Given the description of an element on the screen output the (x, y) to click on. 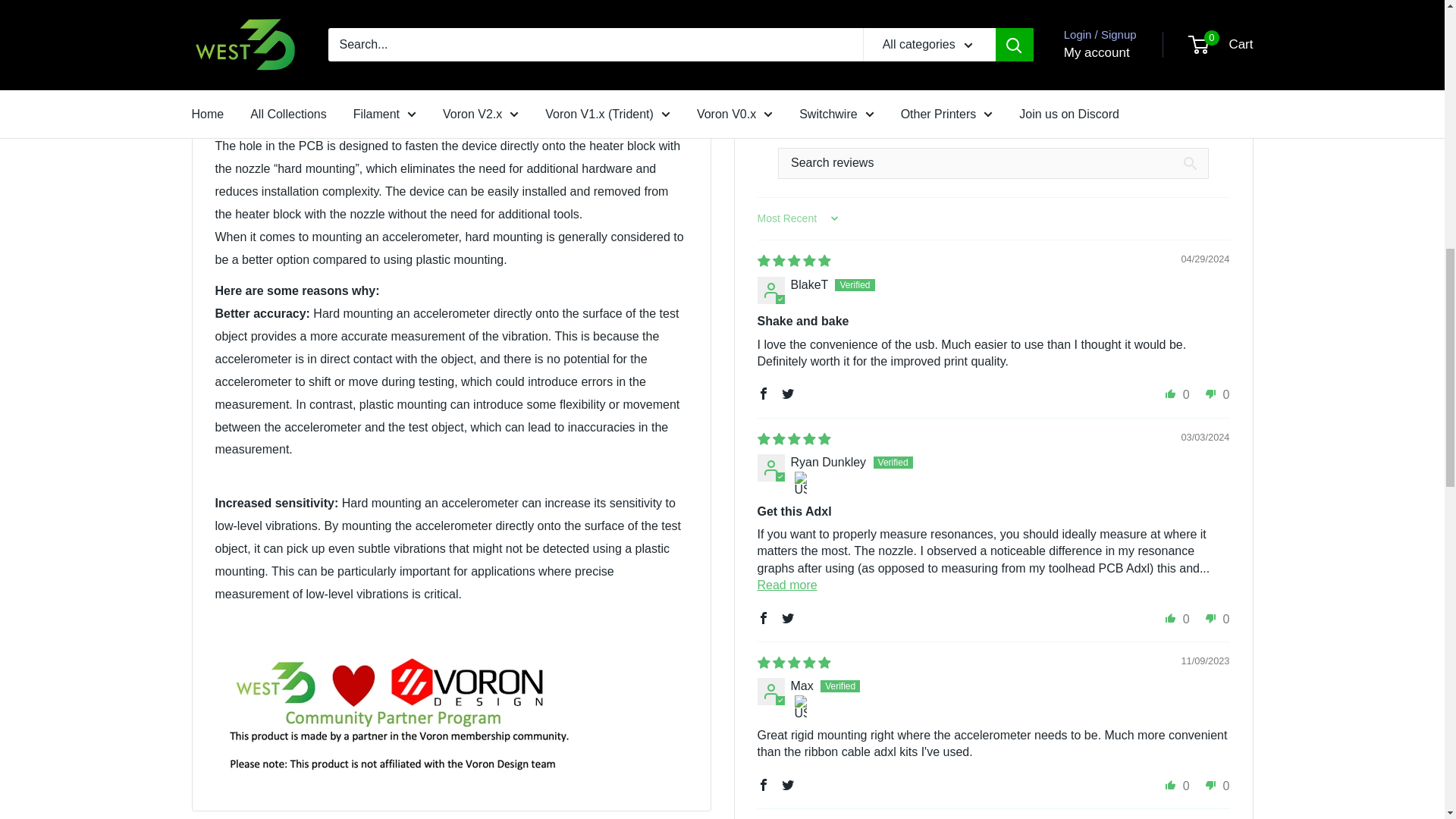
Facebook (762, 617)
Twitter (786, 393)
up (1170, 617)
Twitter (786, 617)
up (1170, 393)
Facebook (762, 393)
down (1210, 393)
down (1210, 617)
